Given the description of an element on the screen output the (x, y) to click on. 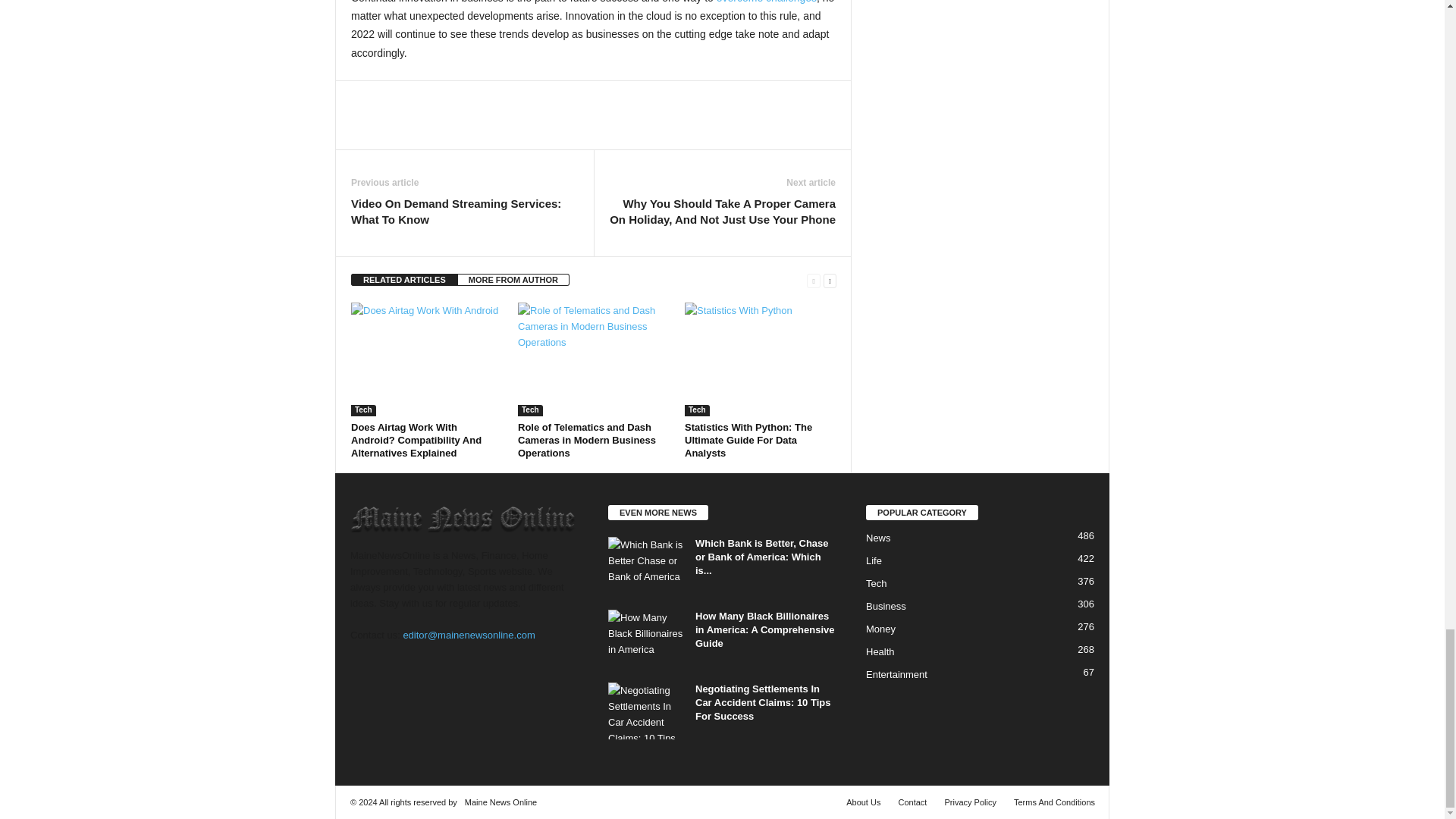
bottomFacebookLike (390, 96)
